Given the description of an element on the screen output the (x, y) to click on. 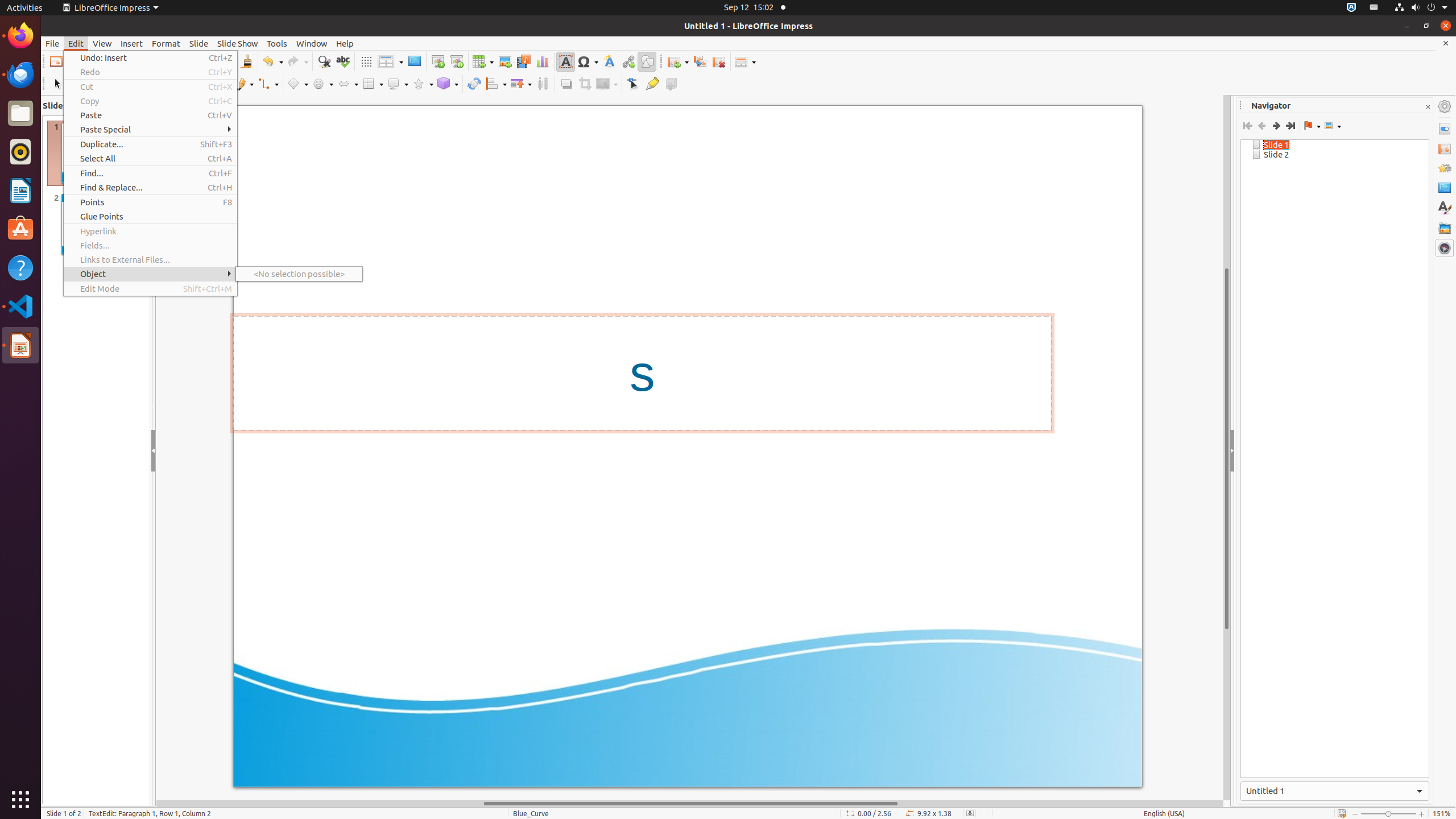
Files Element type: push-button (20, 113)
Edit Mode Element type: menu-item (150, 288)
Find... Element type: menu-item (150, 173)
